Given the description of an element on the screen output the (x, y) to click on. 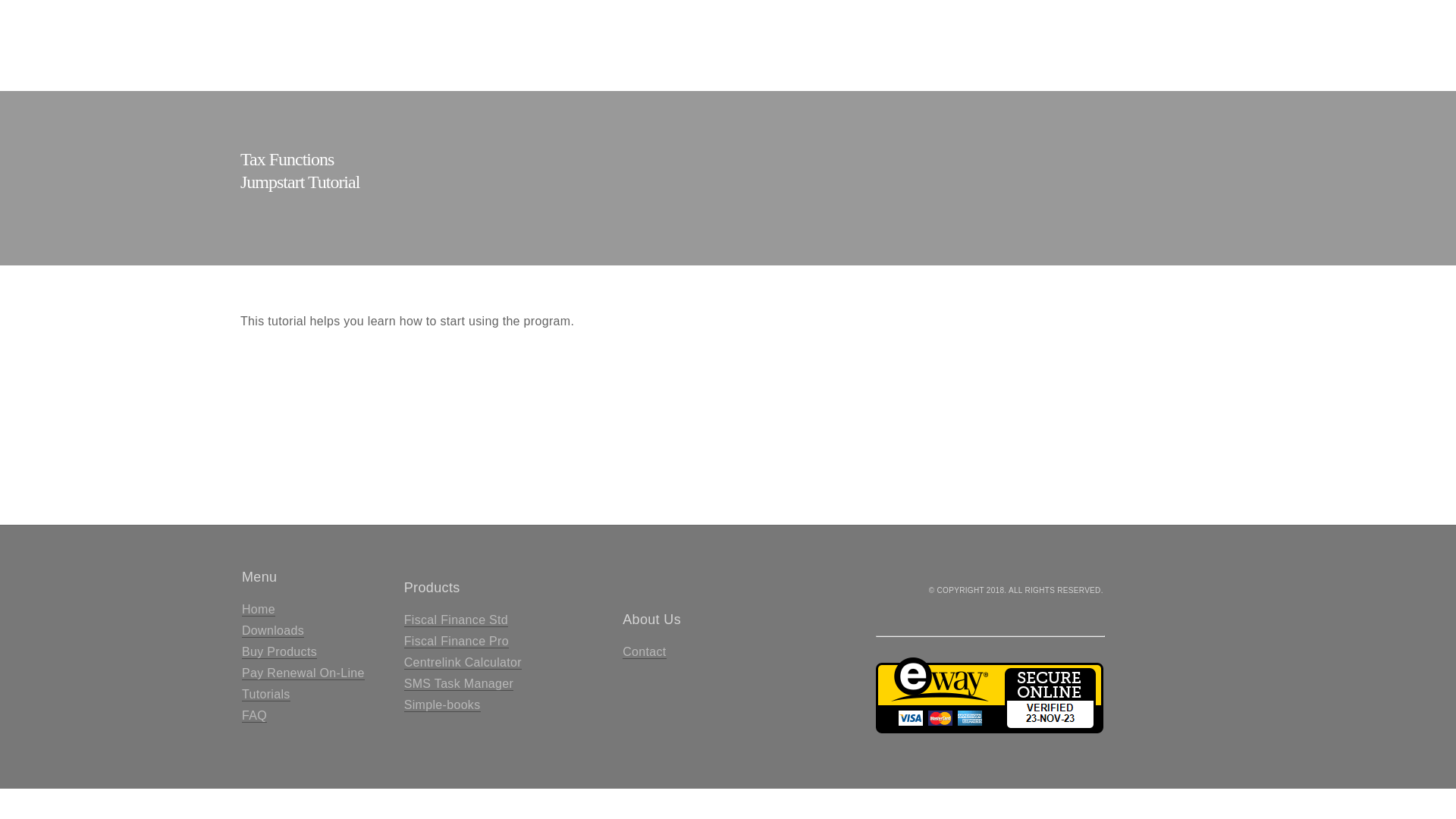
Buy Products Element type: text (278, 651)
Video: tax_2018_001_452.mp4 Element type: hover (727, 412)
eWAY Payment Gateway Element type: hover (989, 729)
Fiscal Finance Std Element type: text (456, 620)
Fiscal Finance Pro Element type: text (456, 641)
FAQ Element type: text (253, 715)
Downloads Element type: text (272, 630)
Home Element type: text (258, 609)
Tutorials Element type: text (265, 694)
Centrelink Calculator Element type: text (462, 662)
Simple-books Element type: text (442, 705)
Pay Renewal On-Line Element type: text (302, 673)
Contact Element type: text (643, 651)
SMS Task Manager Element type: text (458, 683)
